Given the description of an element on the screen output the (x, y) to click on. 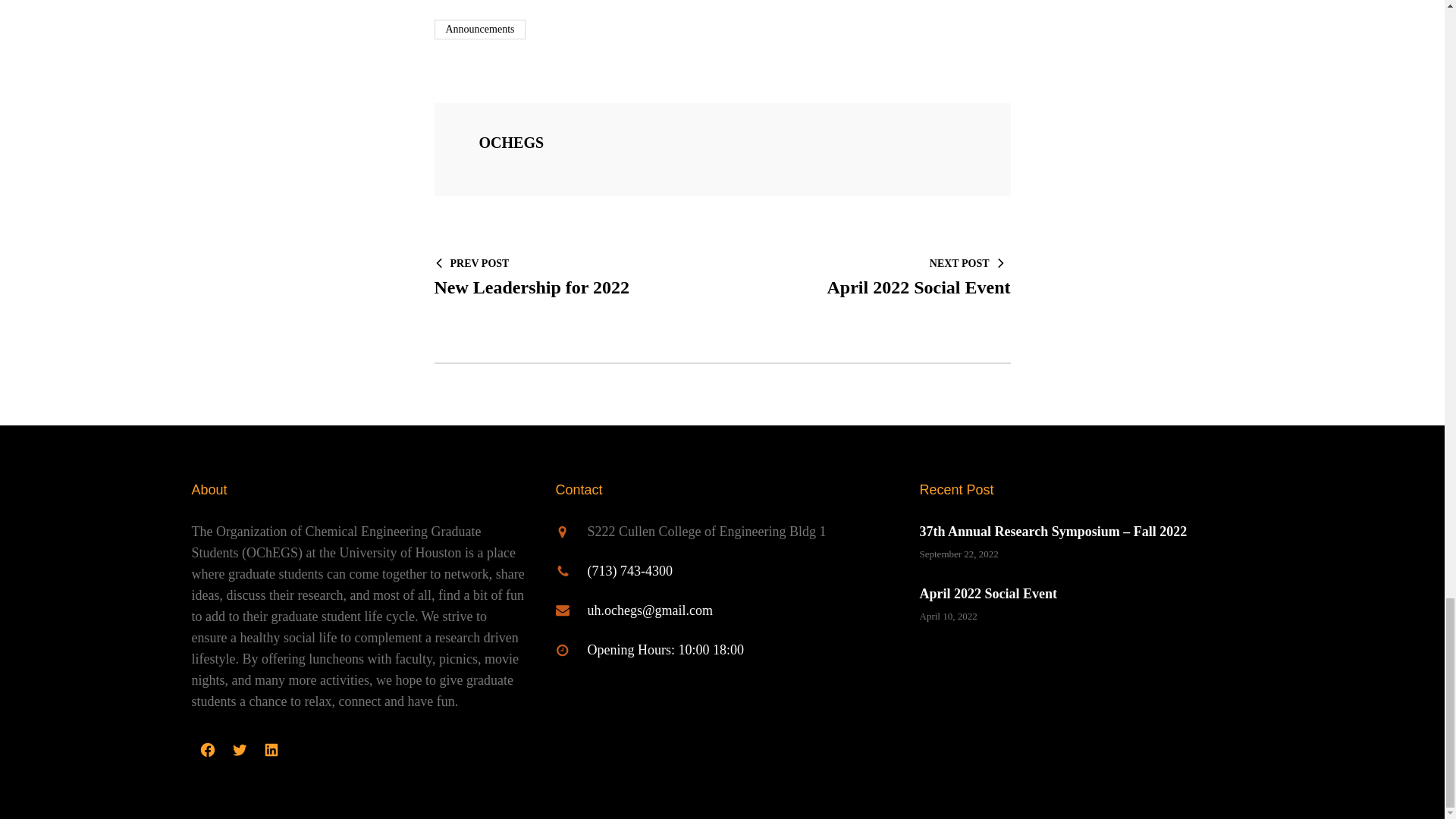
Twitter (238, 749)
Opening Hours: 10:00 18:00 (873, 276)
Facebook (665, 649)
LinkedIn (569, 276)
Announcements (206, 749)
April 2022 Social Event (270, 749)
